Given the description of an element on the screen output the (x, y) to click on. 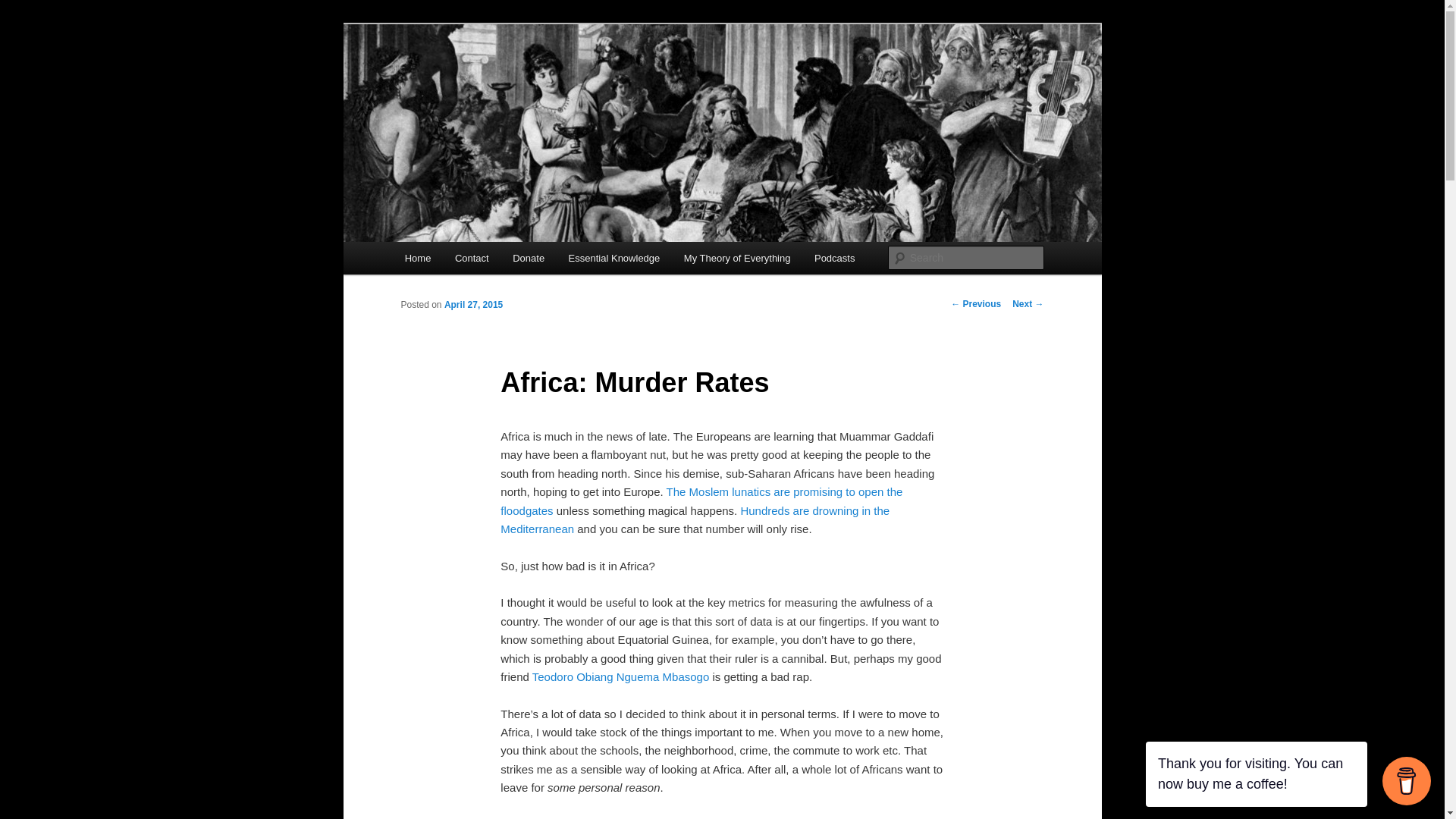
Essential Knowledge (613, 257)
10:02 am (473, 304)
Donate (528, 257)
The Z Blog (459, 78)
My Theory of Everything (736, 257)
Contact (471, 257)
April 27, 2015 (473, 304)
Hundreds are drowning in the Mediterranean (694, 518)
Search (24, 8)
